Given the description of an element on the screen output the (x, y) to click on. 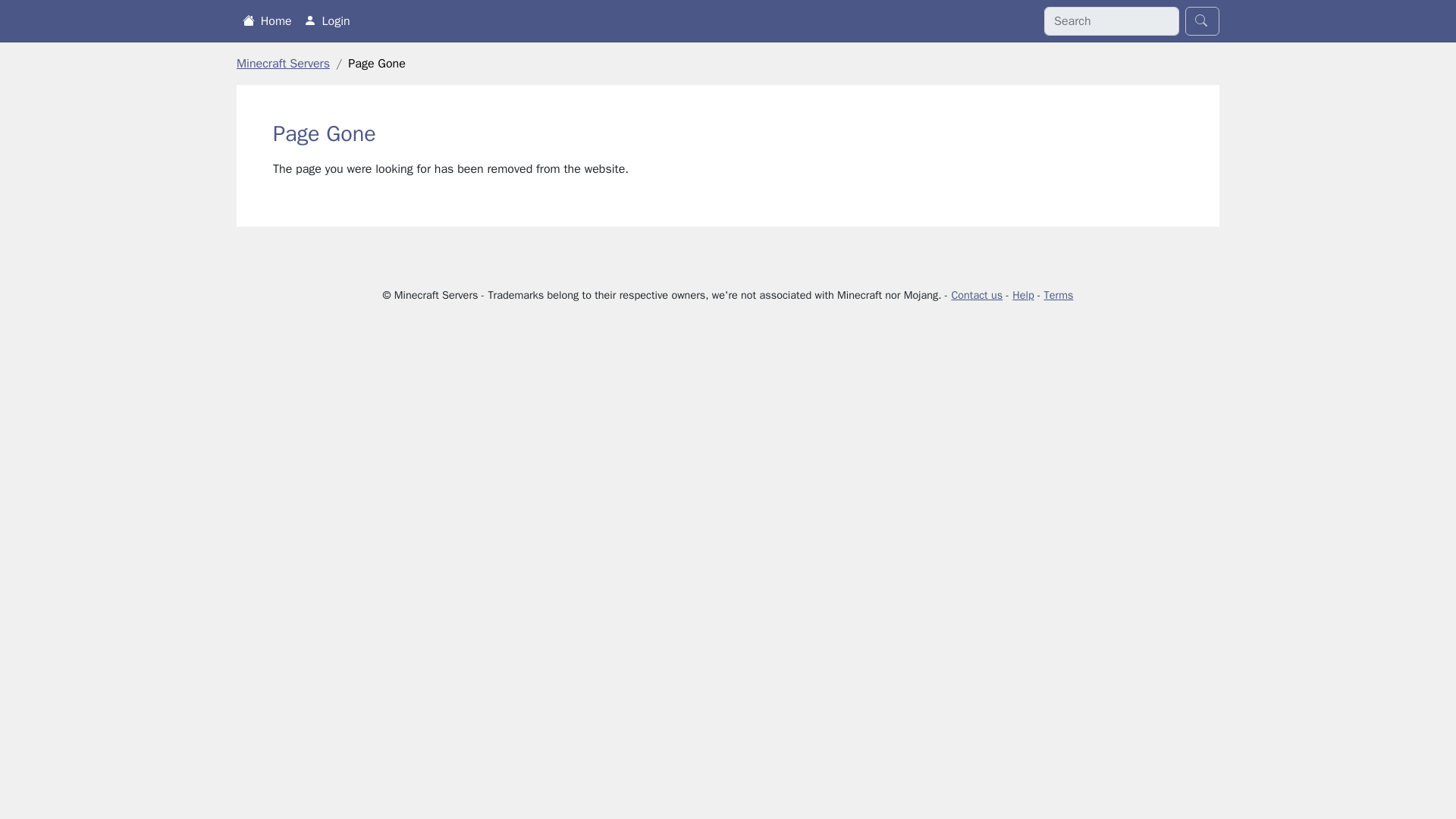
Terms (1058, 295)
Home (266, 20)
Contact us (976, 295)
Login (327, 20)
Help (1022, 295)
Minecraft Servers (282, 63)
Search (1202, 21)
